Given the description of an element on the screen output the (x, y) to click on. 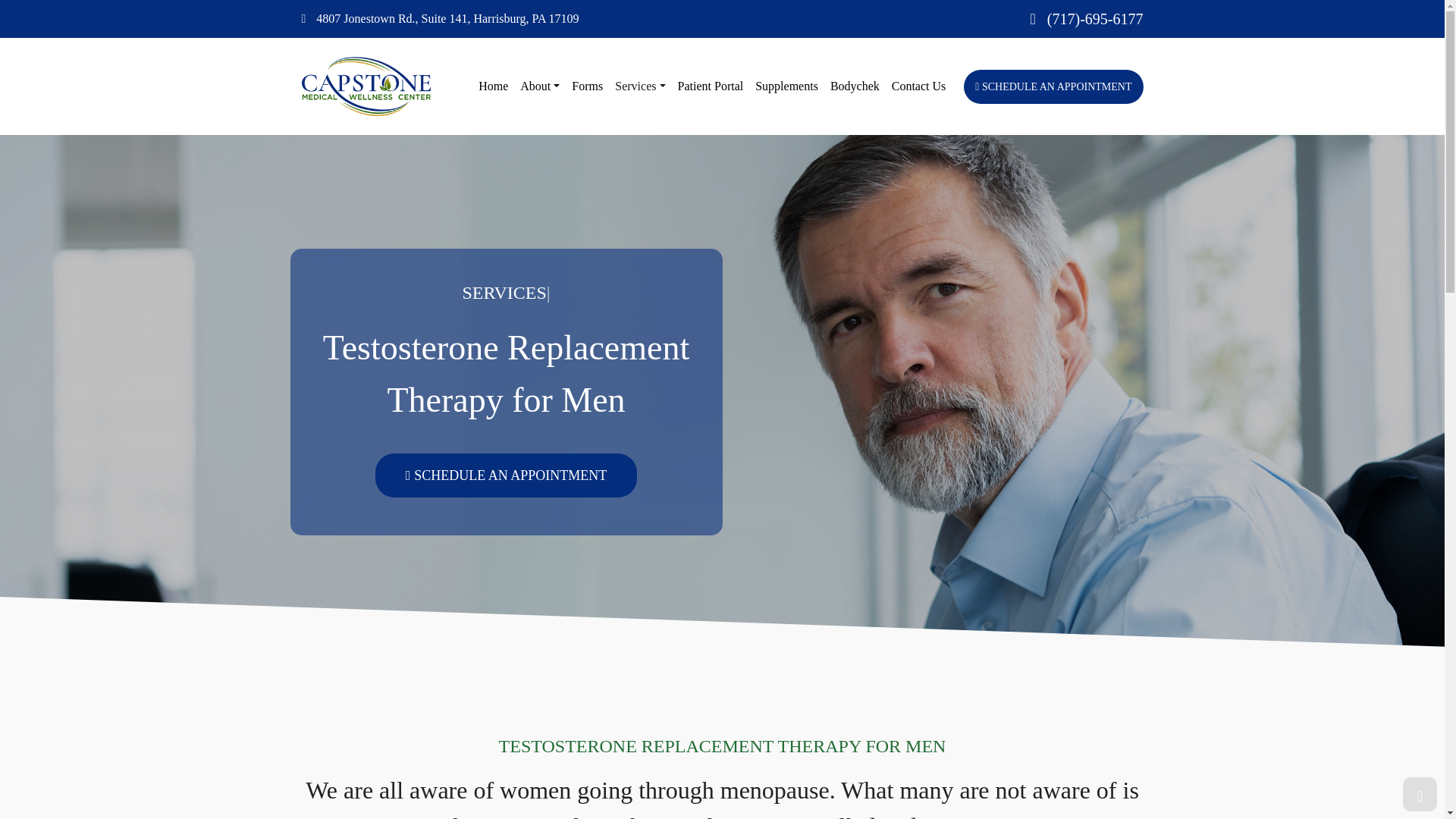
Supplements (786, 86)
Supplements (786, 86)
Contact Us (918, 86)
Forms (587, 86)
SCHEDULE AN APPOINTMENT (1052, 86)
SCHEDULE AN APPOINTMENT (506, 475)
Forms (587, 86)
Contact Us (918, 86)
Patient Portal (710, 86)
Home (492, 86)
Bodychek (854, 86)
Home (492, 86)
About (539, 86)
Services (639, 86)
Services (639, 86)
